Given the description of an element on the screen output the (x, y) to click on. 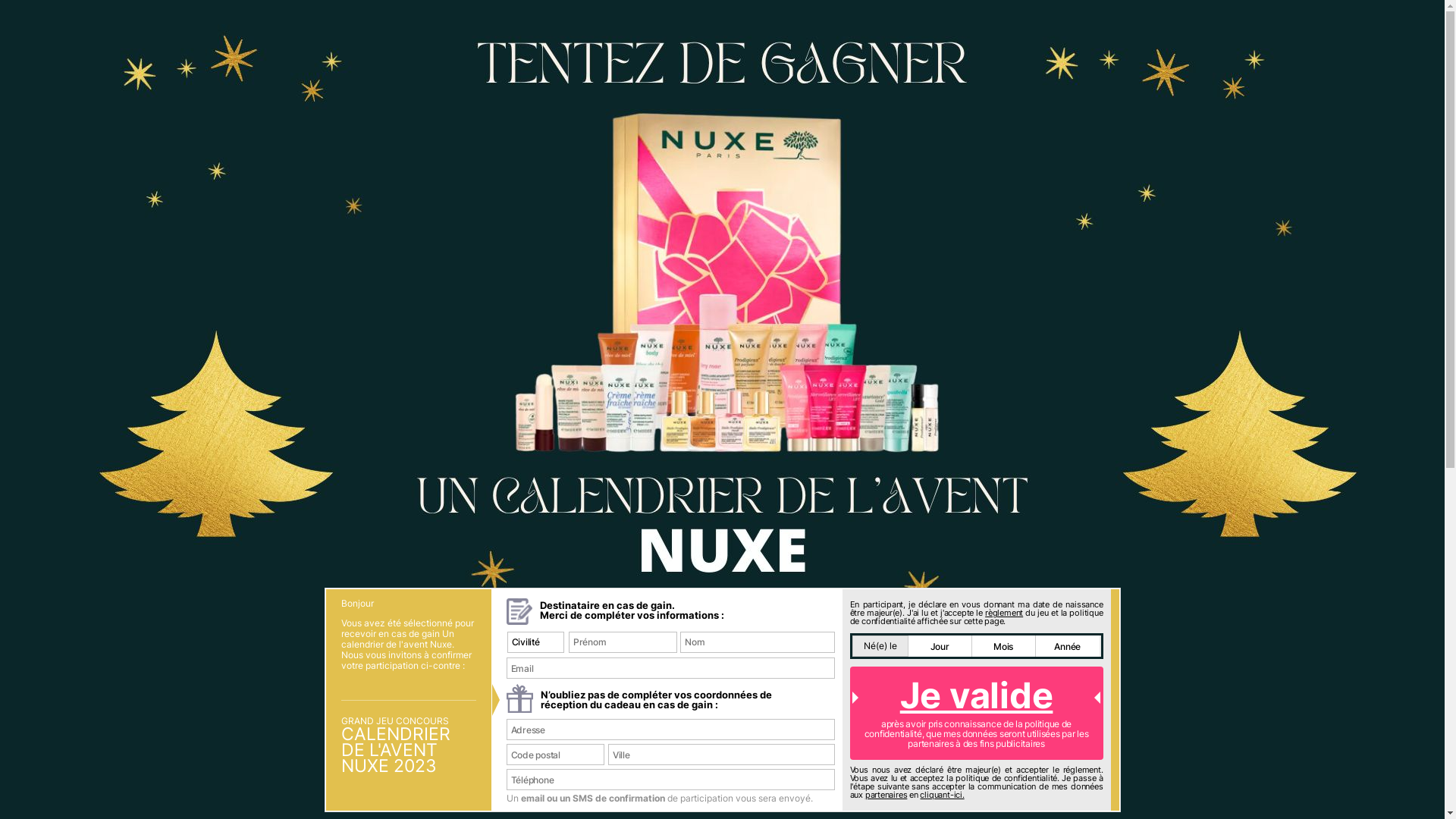
cliquant-ici. Element type: text (941, 794)
partenaires Element type: text (886, 794)
